Given the description of an element on the screen output the (x, y) to click on. 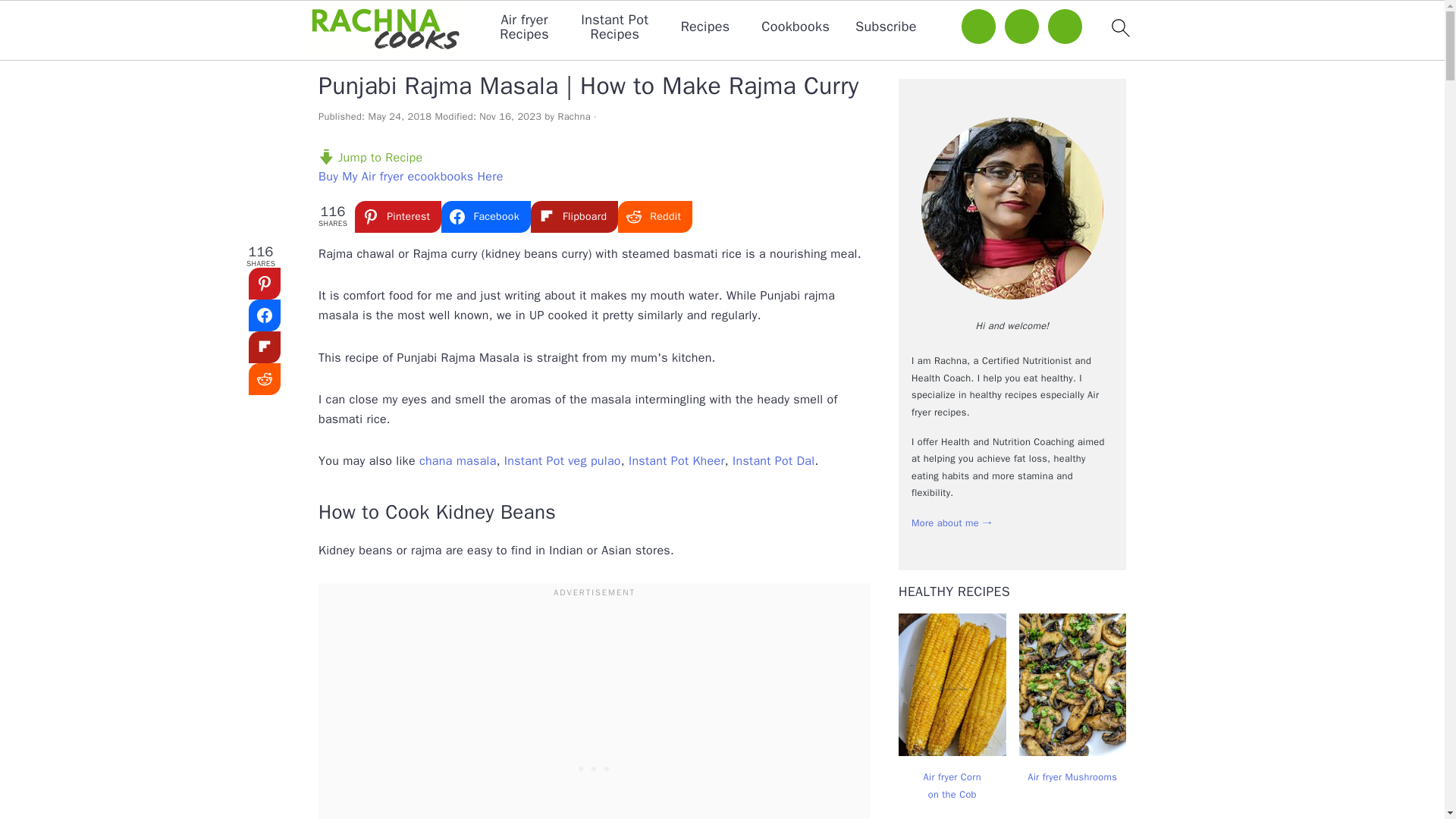
search icon (1119, 27)
Share on Facebook (264, 315)
Share on Pinterest (264, 283)
Share on Reddit (655, 216)
Share on Pinterest (398, 216)
Share on Flipboard (264, 347)
Share on Reddit (264, 378)
Share on Facebook (486, 216)
Share on Flipboard (574, 216)
